Given the description of an element on the screen output the (x, y) to click on. 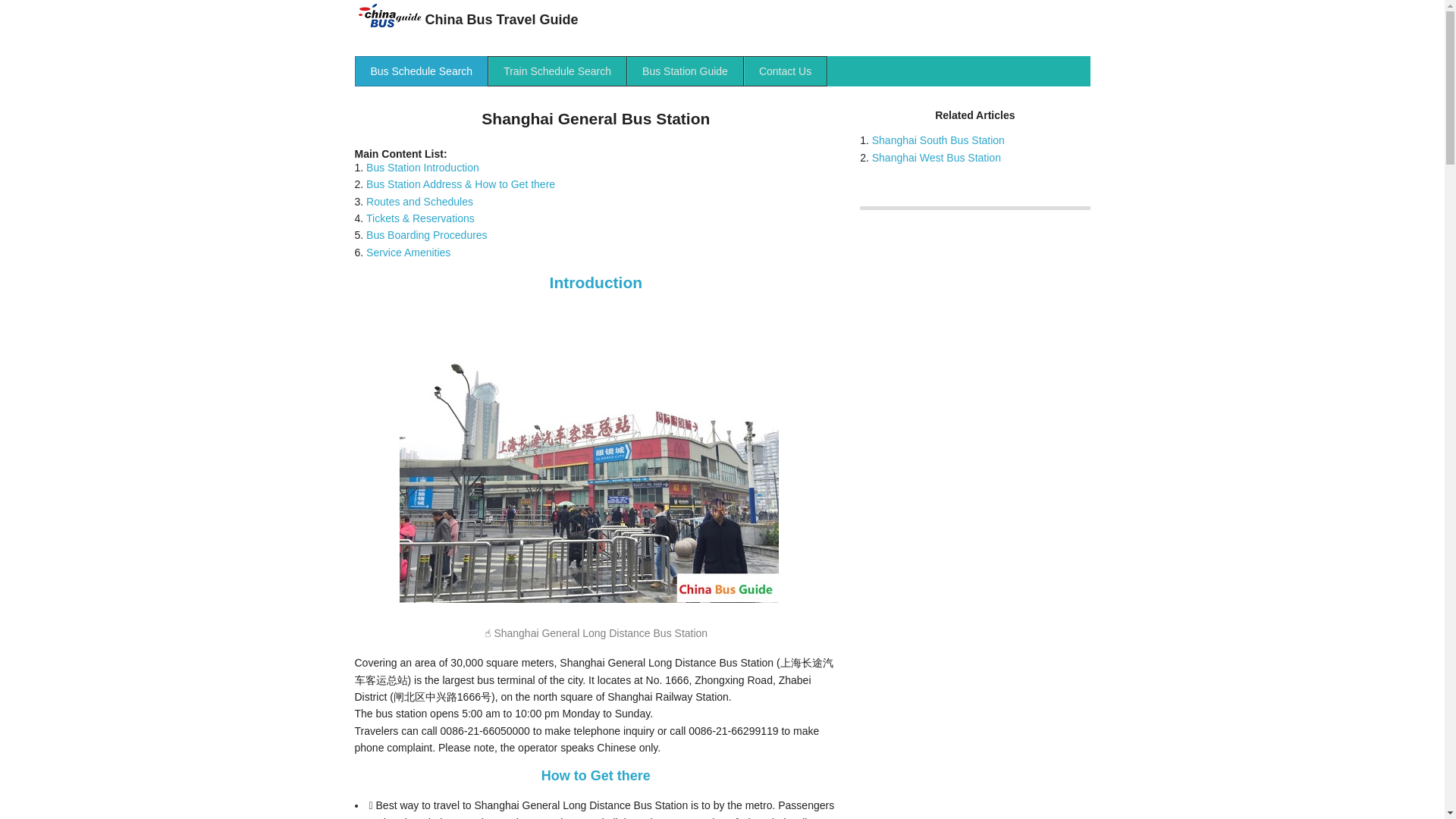
How to Get there (595, 775)
Routes and Schedules (419, 201)
Contact Us (785, 70)
Train Schedule Search (556, 70)
Shanghai West Bus Station (936, 157)
Service Amenities (407, 252)
Bus Schedule Search (421, 70)
Bus Boarding Procedures (426, 234)
Shanghai South Bus Station (938, 140)
Bus Station Introduction (422, 167)
Bus Station Guide (684, 70)
Introduction (596, 282)
